Given the description of an element on the screen output the (x, y) to click on. 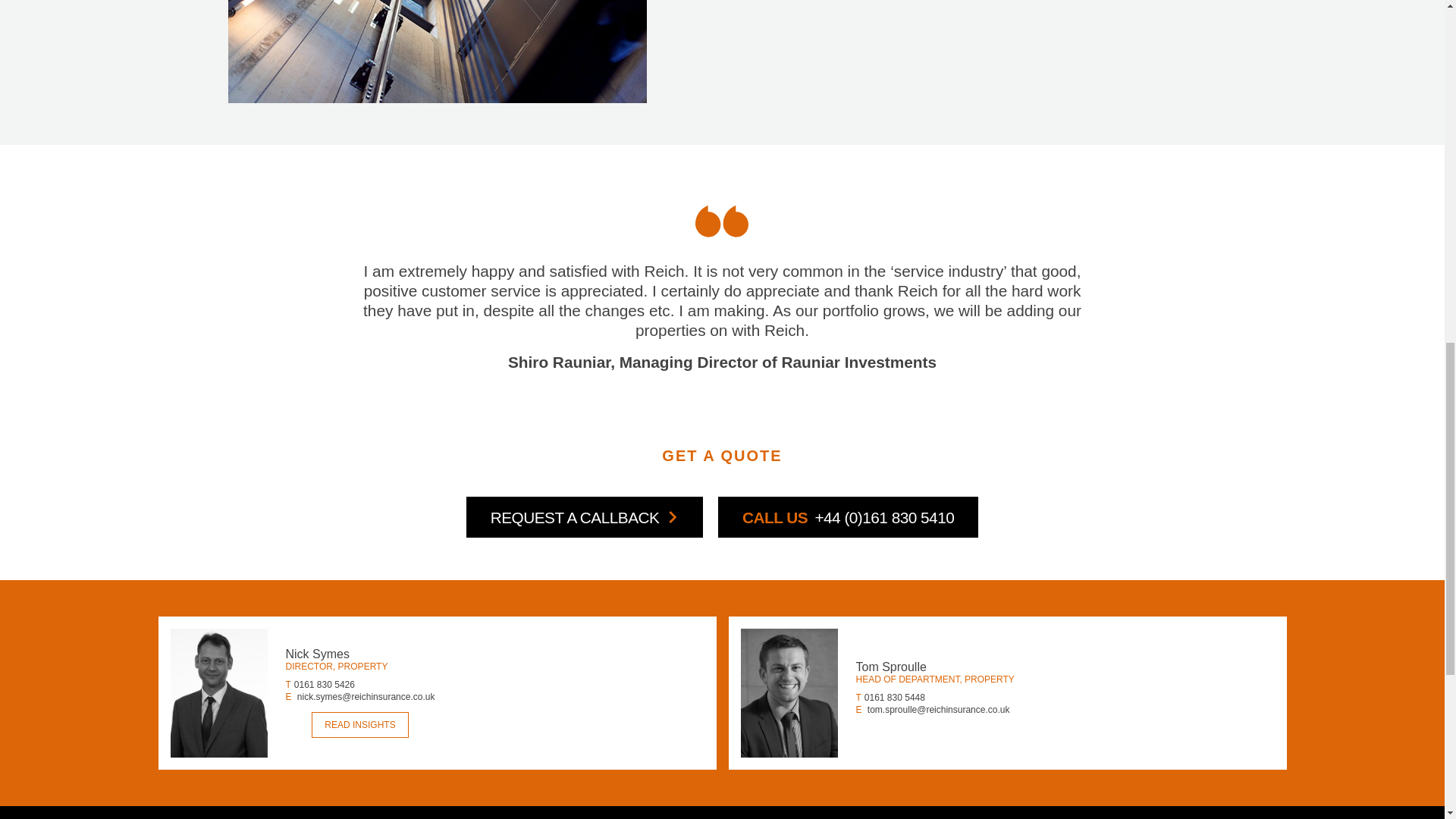
READ INSIGHTS (359, 724)
0161 830 5448 (894, 697)
REQUEST A CALLBACK (584, 516)
0161 830 5426 (324, 684)
